Given the description of an element on the screen output the (x, y) to click on. 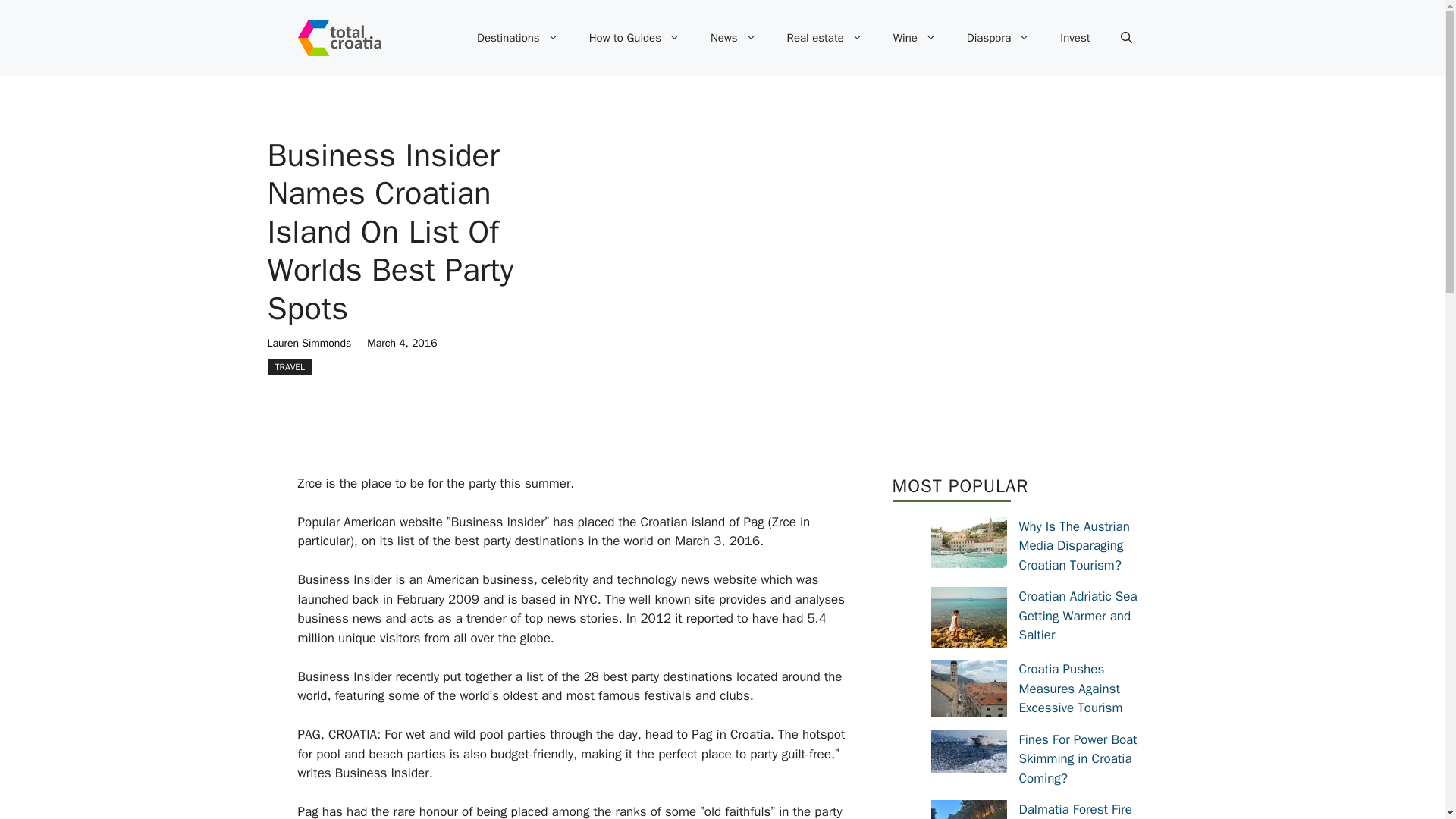
Wine (914, 37)
News (733, 37)
Diaspora (998, 37)
Real estate (824, 37)
How to Guides (634, 37)
Invest (1075, 37)
Destinations (517, 37)
